Given the description of an element on the screen output the (x, y) to click on. 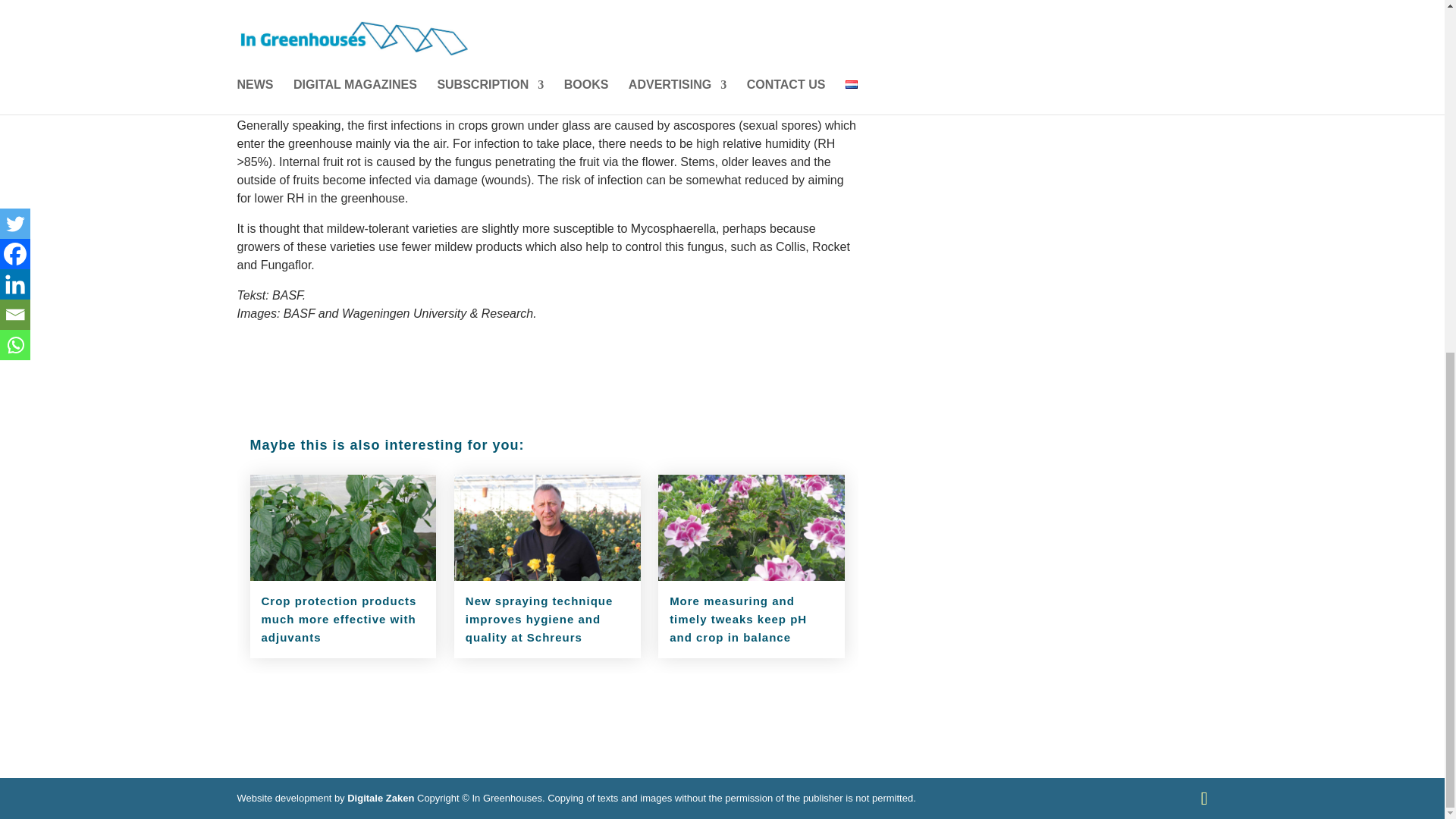
Crop protection products much more effective with adjuvants (338, 618)
